Given the description of an element on the screen output the (x, y) to click on. 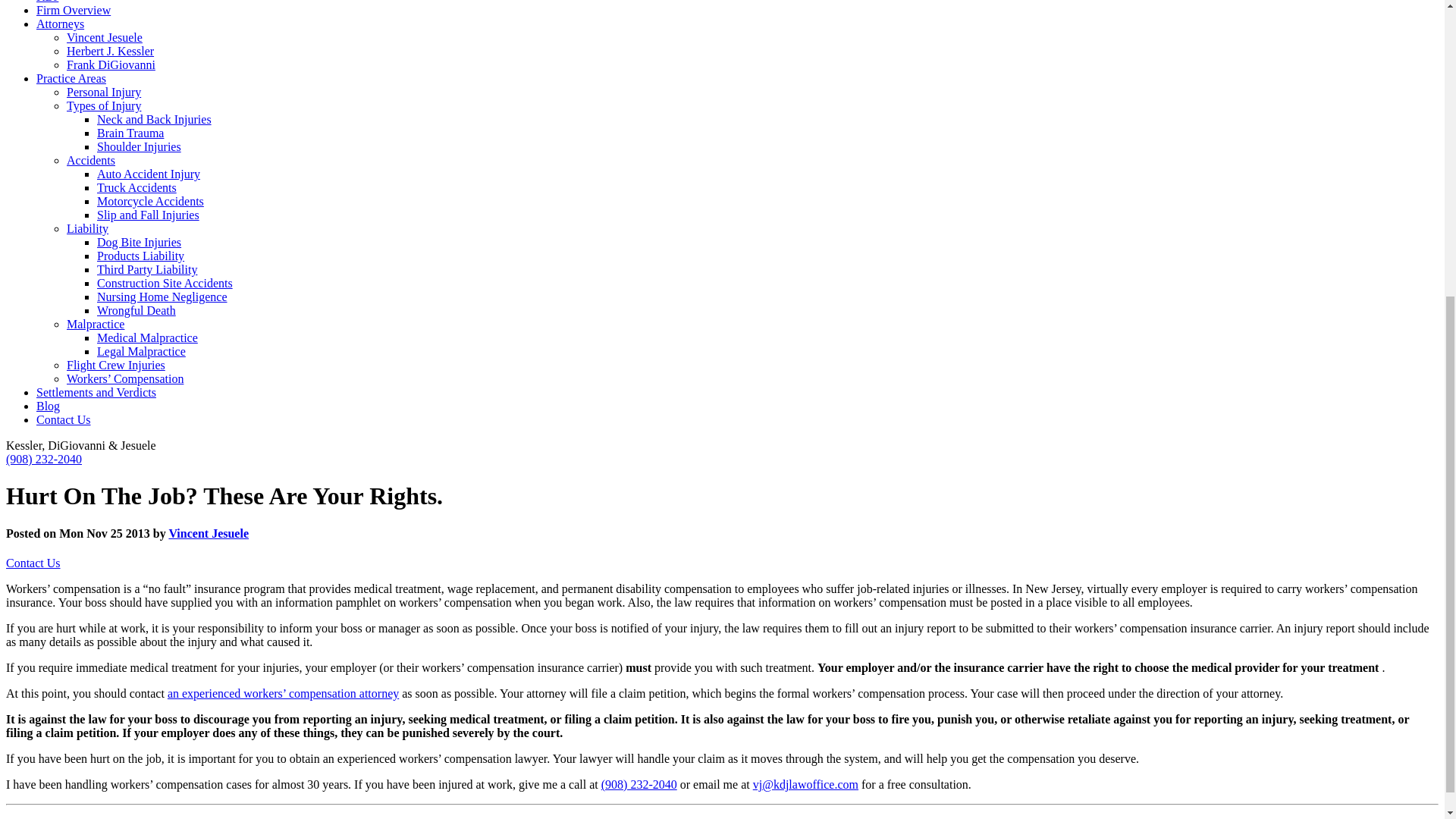
KDJ (47, 1)
Personal Injury (103, 91)
Herbert J. Kessler (110, 51)
Vincent Jesuele (104, 37)
Firm Overview (73, 10)
Frank DiGiovanni (110, 64)
Attorneys (60, 23)
Practice Areas (71, 78)
